Given the description of an element on the screen output the (x, y) to click on. 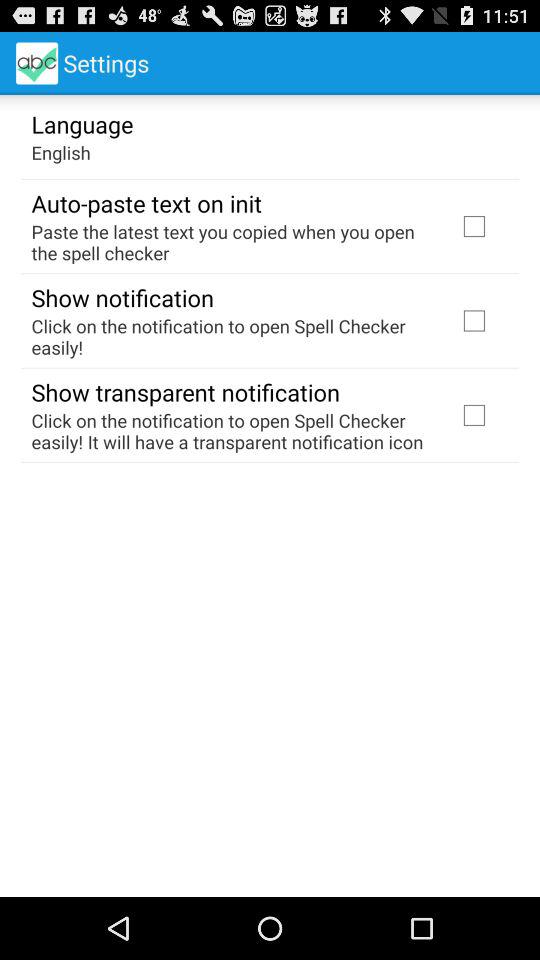
tap app above auto paste text icon (60, 151)
